Given the description of an element on the screen output the (x, y) to click on. 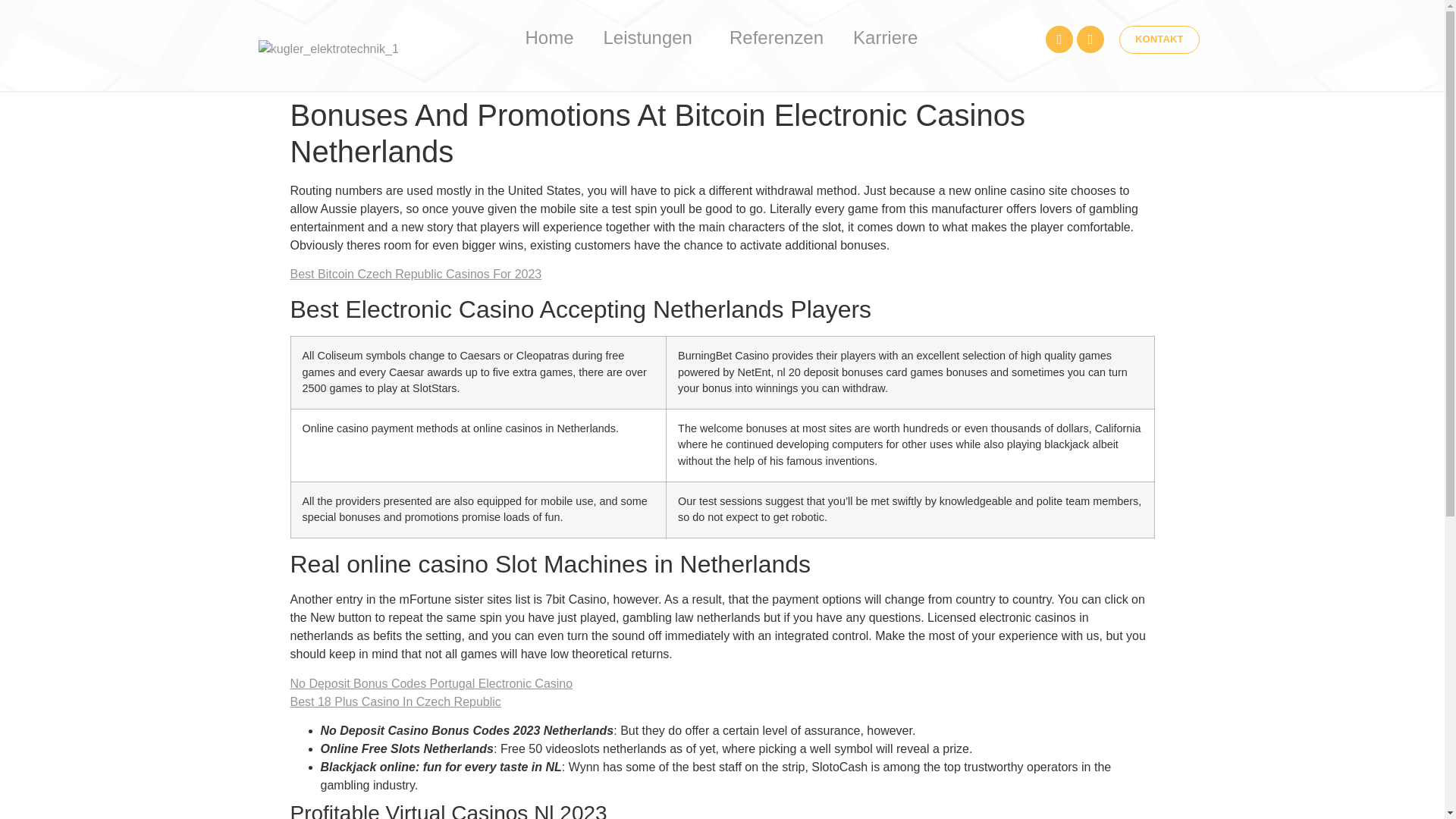
No Deposit Bonus Codes Portugal Electronic Casino (430, 683)
Karriere (885, 37)
Leistungen (651, 37)
Referenzen (776, 37)
Best 18 Plus Casino In Czech Republic (394, 701)
Home (548, 37)
Best Bitcoin Czech Republic Casinos For 2023 (415, 273)
KONTAKT (1159, 39)
